Given the description of an element on the screen output the (x, y) to click on. 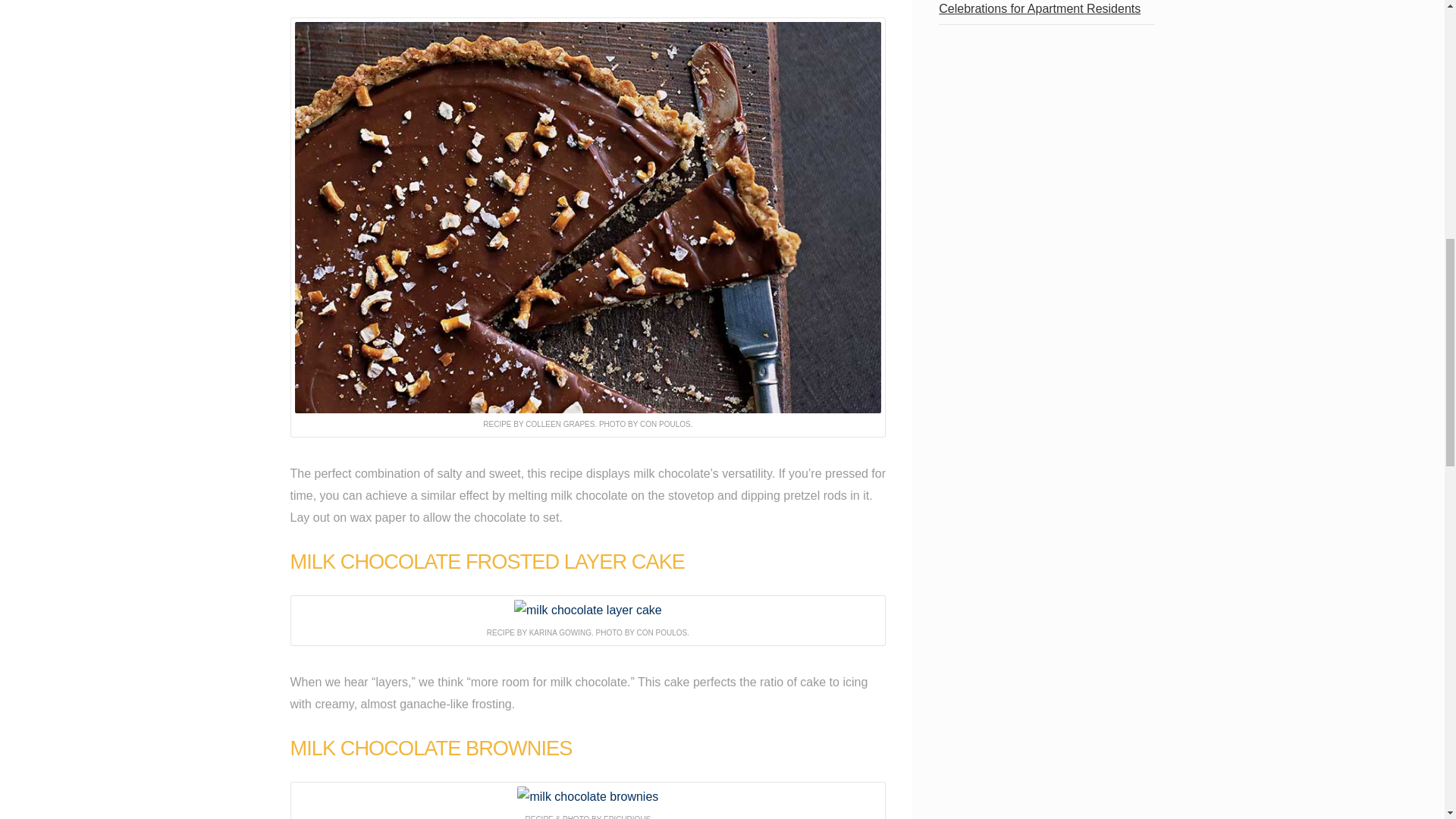
MILK CHOCOLATE FROSTED LAYER CAKE (486, 561)
MILK CHOCOLATE BROWNIES (430, 748)
